Given the description of an element on the screen output the (x, y) to click on. 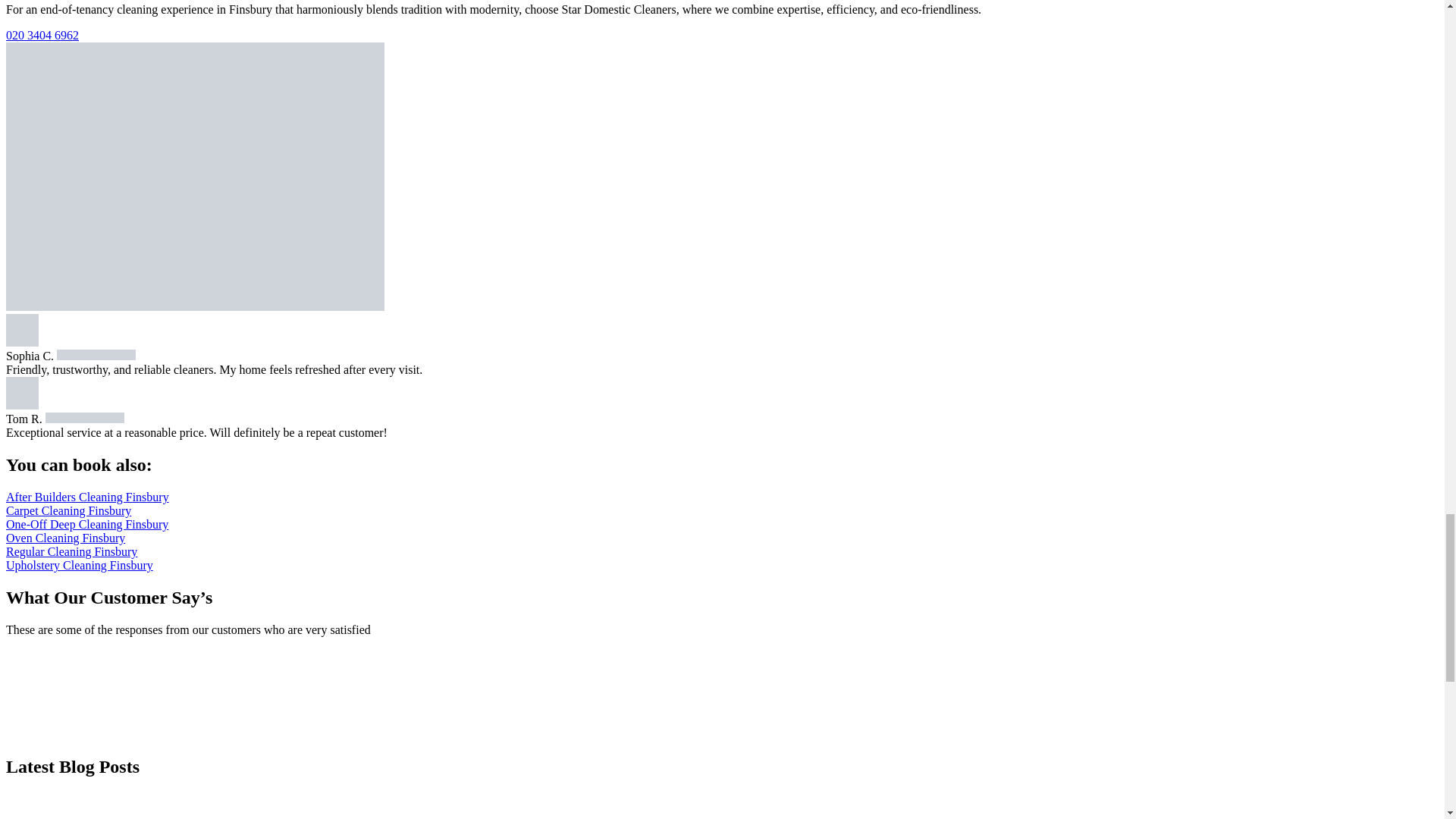
Carpet Cleaning Finsbury (68, 510)
Regular Cleaning Finsbury (70, 551)
One-Off Deep Cleaning Finsbury (86, 523)
020 3404 6962 (41, 34)
Oven Cleaning Finsbury (65, 537)
After Builders Cleaning Finsbury (86, 496)
Upholstery Cleaning Finsbury (78, 564)
